Given the description of an element on the screen output the (x, y) to click on. 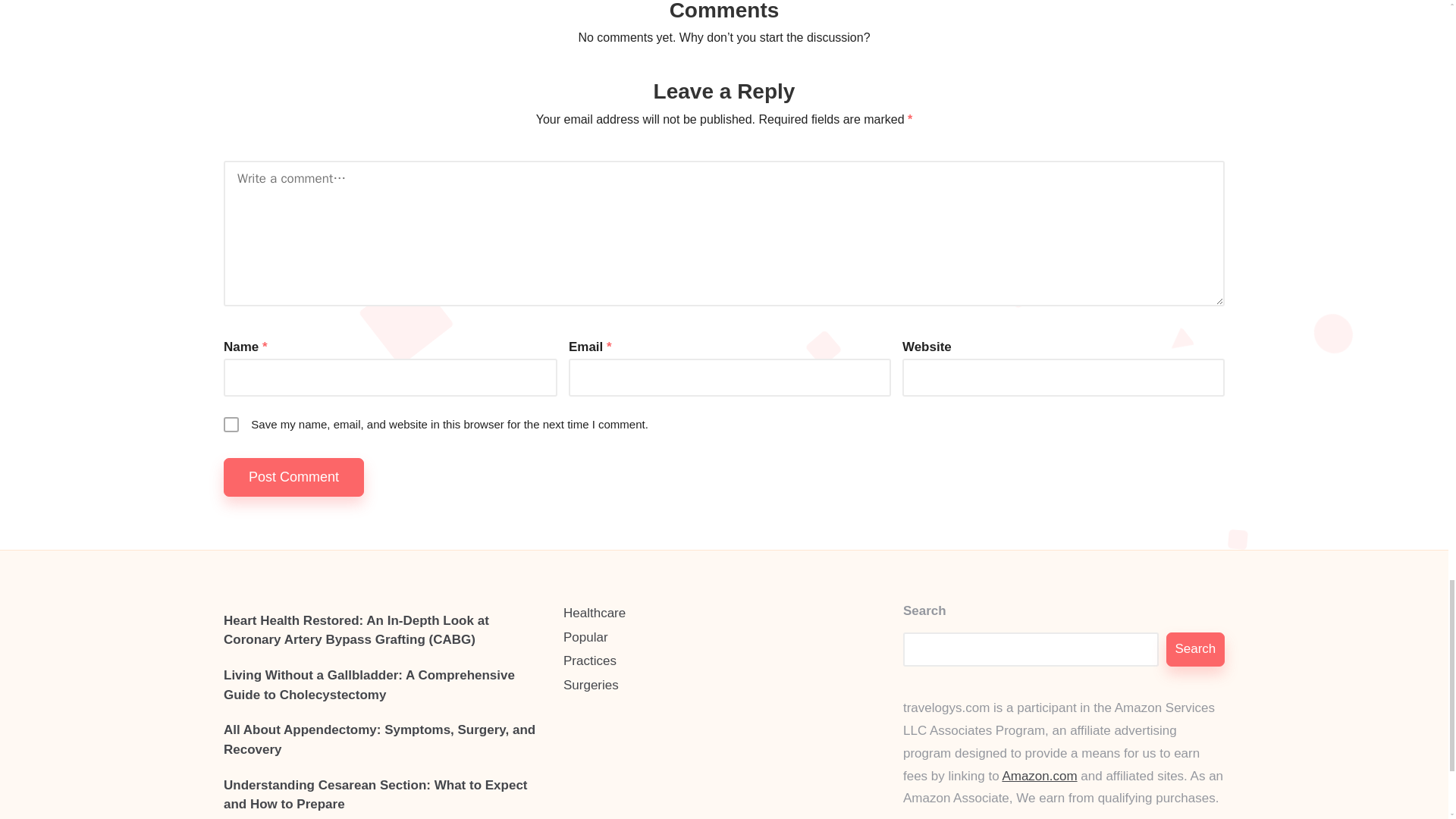
Popular (724, 637)
yes (231, 424)
Practices (724, 660)
Healthcare (724, 613)
Surgeries (724, 685)
All About Appendectomy: Symptoms, Surgery, and Recovery (384, 739)
Post Comment (294, 476)
Post Comment (294, 476)
